Given the description of an element on the screen output the (x, y) to click on. 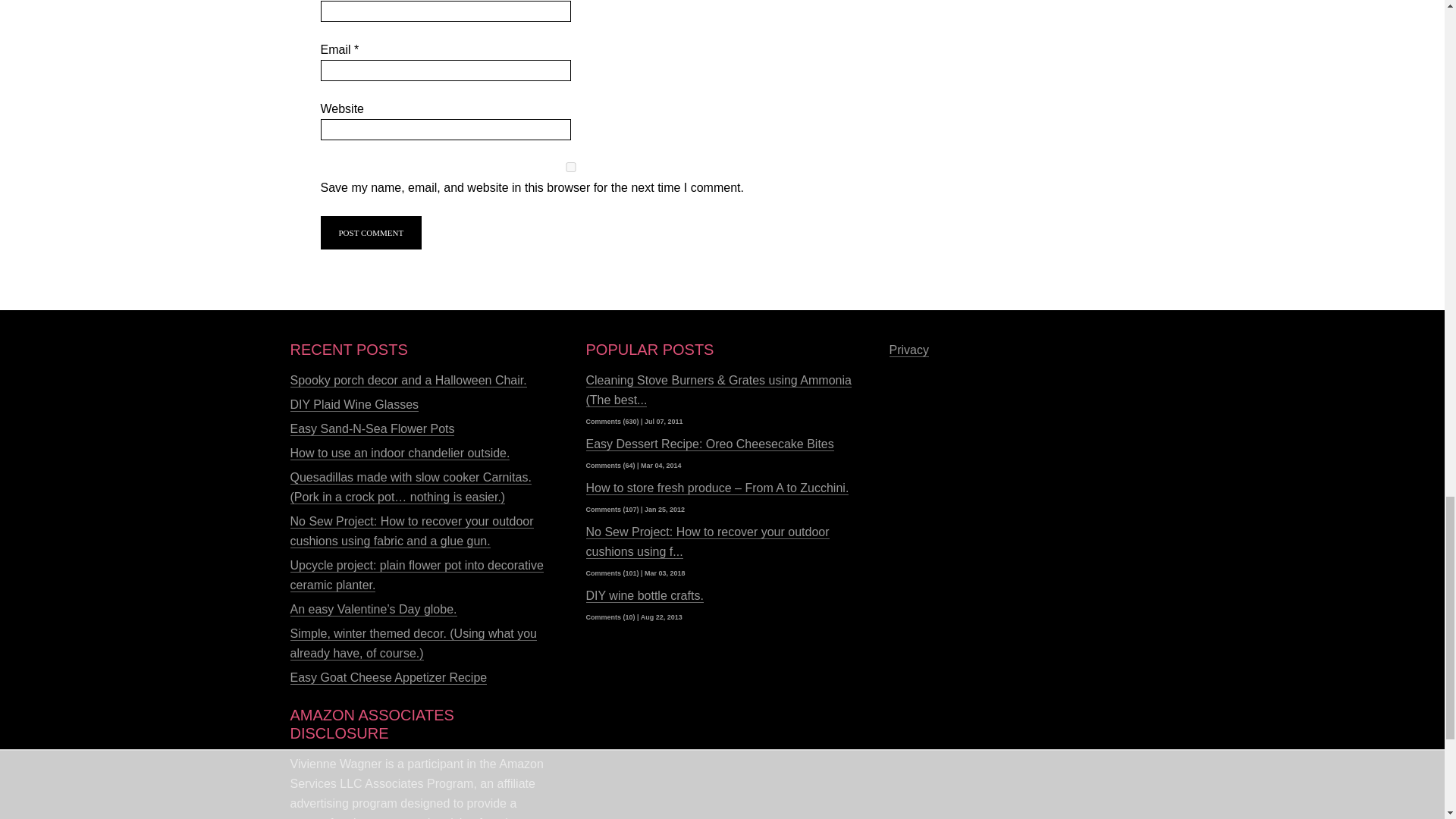
DIY wine bottle crafts. (644, 595)
Easy Dessert Recipe: Oreo Cheesecake Bites (708, 444)
yes (570, 166)
Post Comment (371, 232)
